Given the description of an element on the screen output the (x, y) to click on. 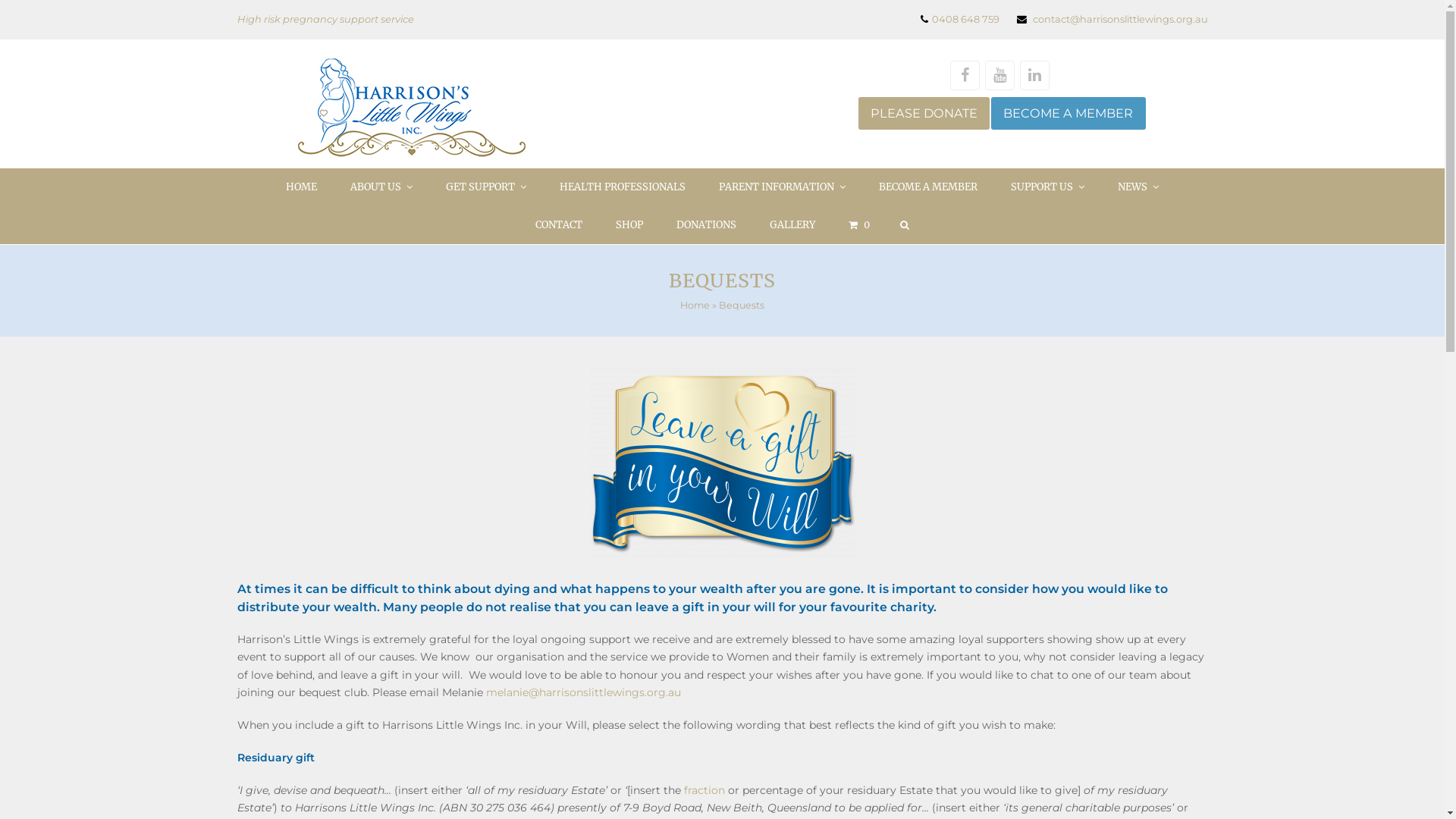
GALLERY Element type: text (792, 225)
SUPPORT US Element type: text (1047, 187)
Home Element type: text (694, 304)
HEALTH PROFESSIONALS Element type: text (622, 187)
PARENT INFORMATION Element type: text (781, 187)
fraction Element type: text (704, 790)
SHOP Element type: text (629, 225)
BECOME A MEMBER Element type: text (927, 187)
0 Element type: text (858, 225)
CONTACT Element type: text (558, 225)
NEWS Element type: text (1137, 187)
HOME Element type: text (301, 187)
ABOUT US Element type: text (381, 187)
contact@harrisonslittlewings.org.au Element type: text (1120, 18)
PLEASE DONATE Element type: text (923, 113)
GET SUPPORT Element type: text (485, 187)
melanie@harrisonslittlewings.org.au Element type: text (582, 692)
BECOME A MEMBER Element type: text (1068, 113)
Harrisons Little Wings - High Risk Pregnancy Support Service Element type: hover (410, 105)
DONATIONS Element type: text (706, 225)
